Given the description of an element on the screen output the (x, y) to click on. 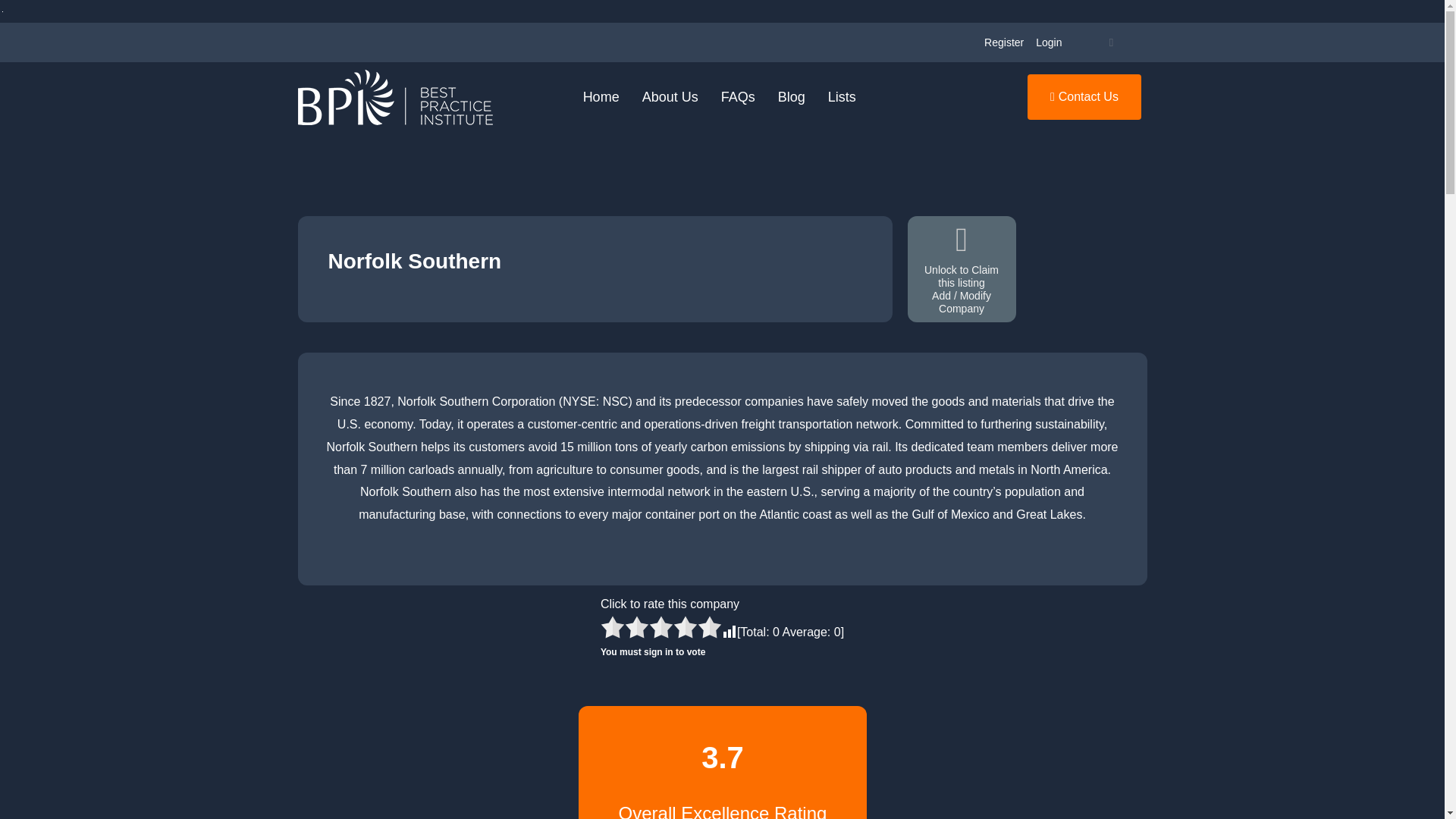
Blog (791, 97)
Cart (1110, 42)
Home (601, 97)
Register (1003, 42)
Contact Us (1084, 96)
Login (1048, 42)
About Us (670, 97)
FAQs (738, 97)
Lists (841, 97)
